Given the description of an element on the screen output the (x, y) to click on. 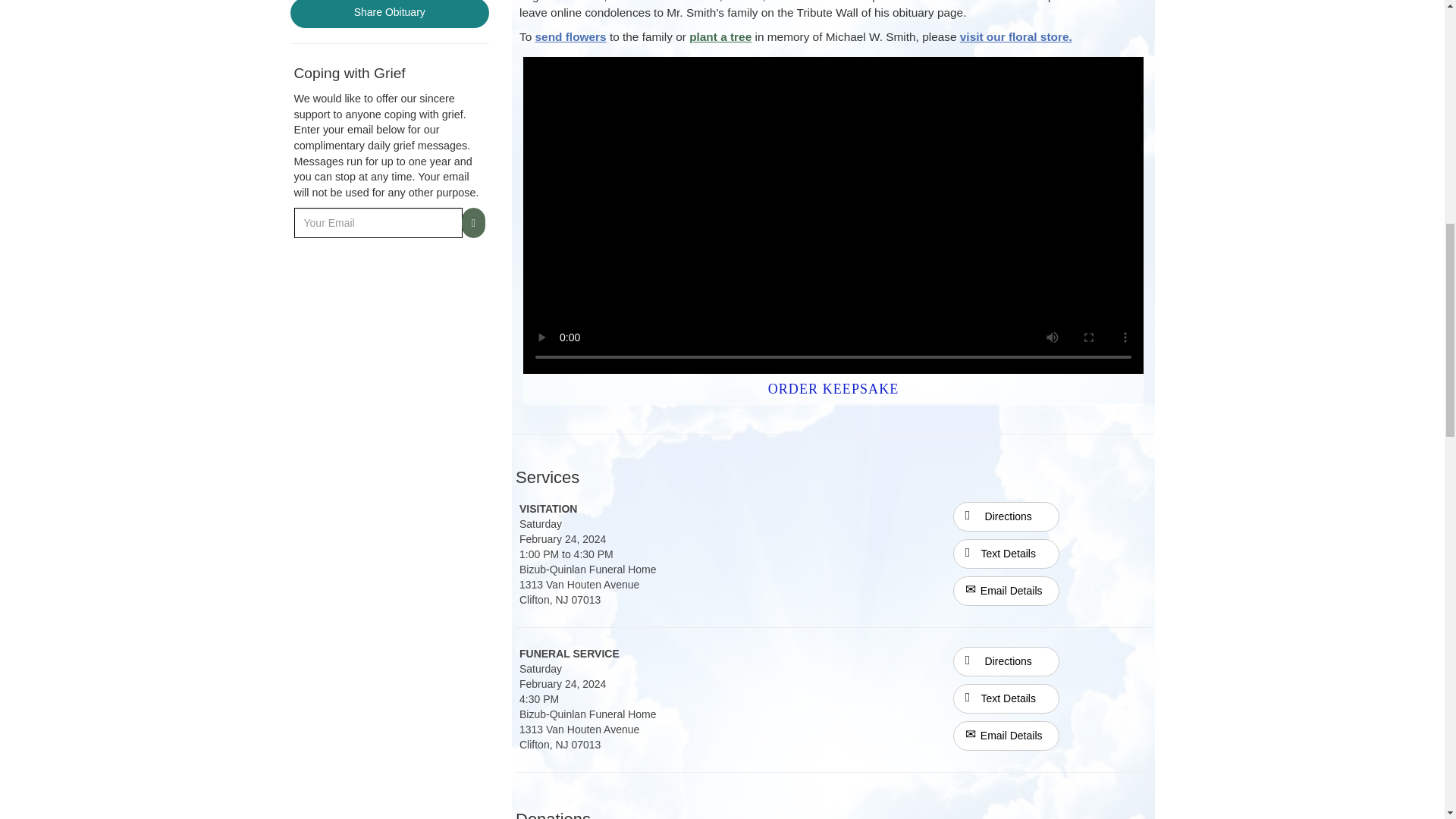
Email Details (1006, 591)
Directions (1006, 661)
plant a tree (719, 36)
Email Details (1006, 736)
Share Obituary (389, 13)
send flowers (571, 36)
Directions (1006, 660)
visit our floral store. (1015, 36)
Directions (1006, 516)
Directions (1006, 515)
Text Details (1006, 698)
Text Details (1006, 553)
